Given the description of an element on the screen output the (x, y) to click on. 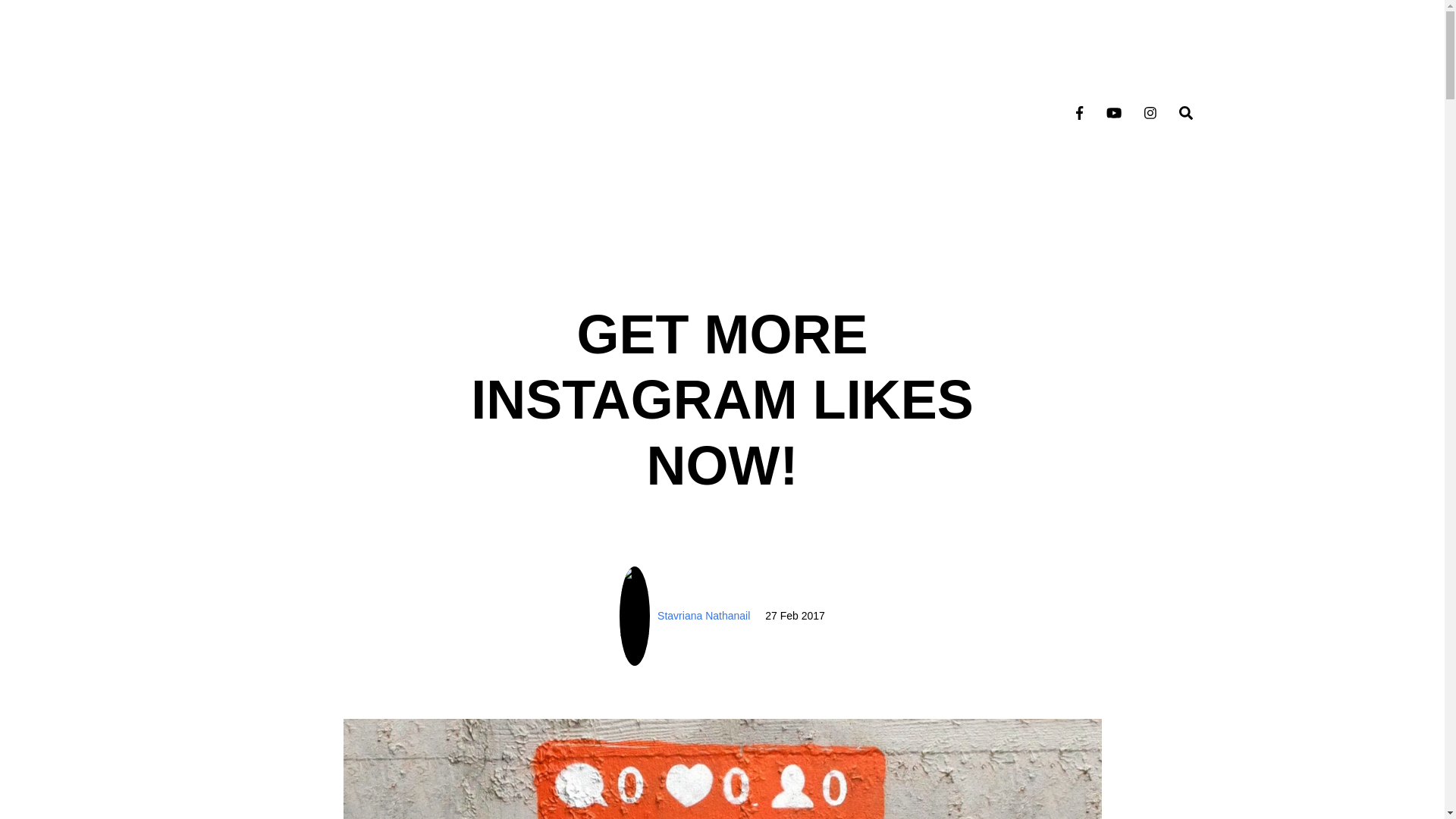
Stavriana Nathanail (703, 616)
Search toggle (1184, 112)
opiumworks logo (409, 112)
Follow us on Twitter (1113, 112)
Follow us on Twitter (1113, 112)
